Given the description of an element on the screen output the (x, y) to click on. 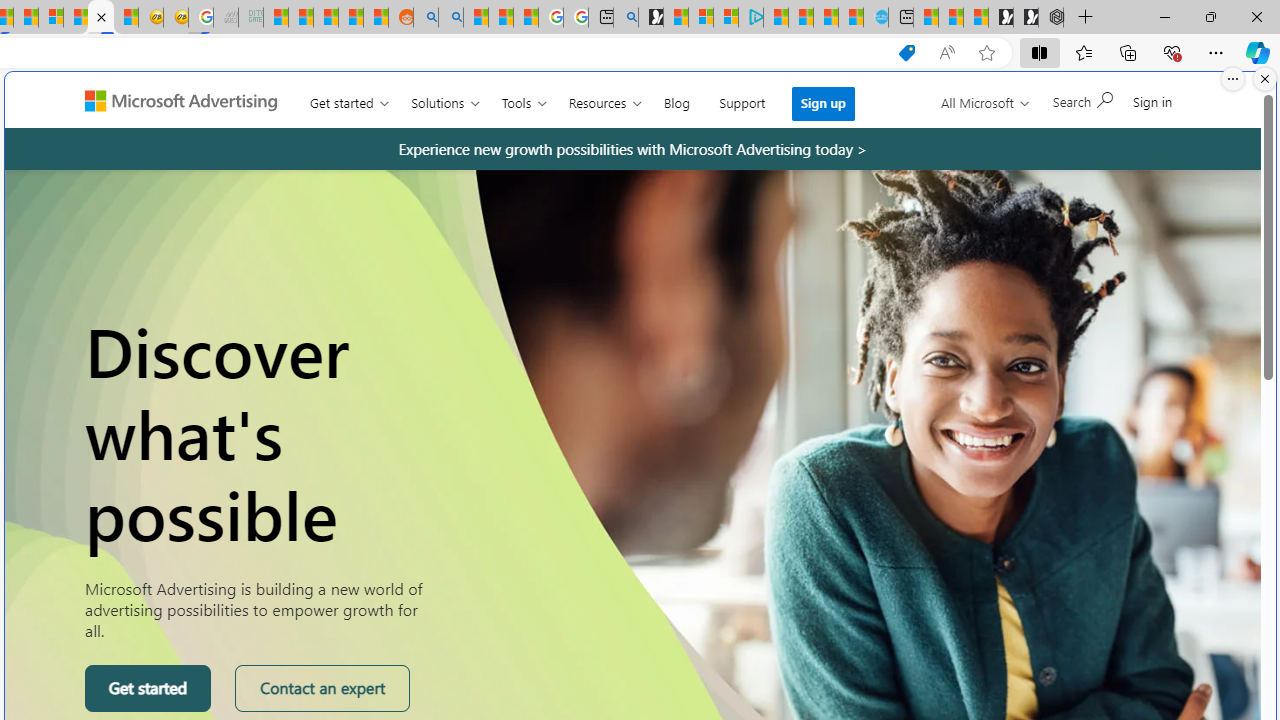
Favorites (1083, 52)
Sign up (823, 103)
Microsoft Advertising (189, 99)
DITOGAMES AG Imprint - Sleeping (250, 17)
New tab (900, 17)
Bing Real Estate - Home sales and rental listings (625, 17)
Support (742, 98)
Microsoft Start (826, 17)
Add this page to favorites (Ctrl+D) (986, 53)
New Tab (1085, 17)
